Given the description of an element on the screen output the (x, y) to click on. 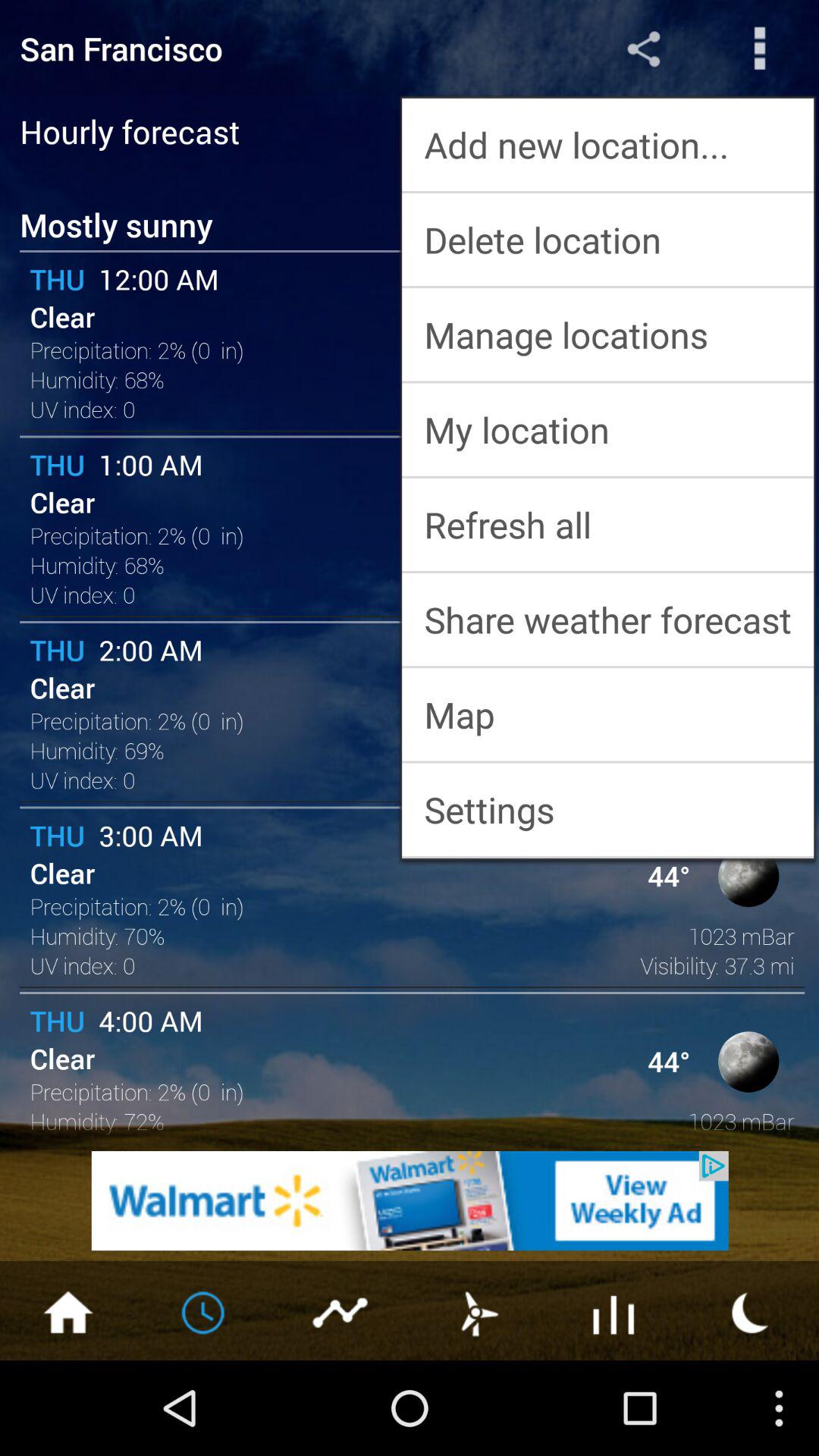
jump to my location item (607, 429)
